Given the description of an element on the screen output the (x, y) to click on. 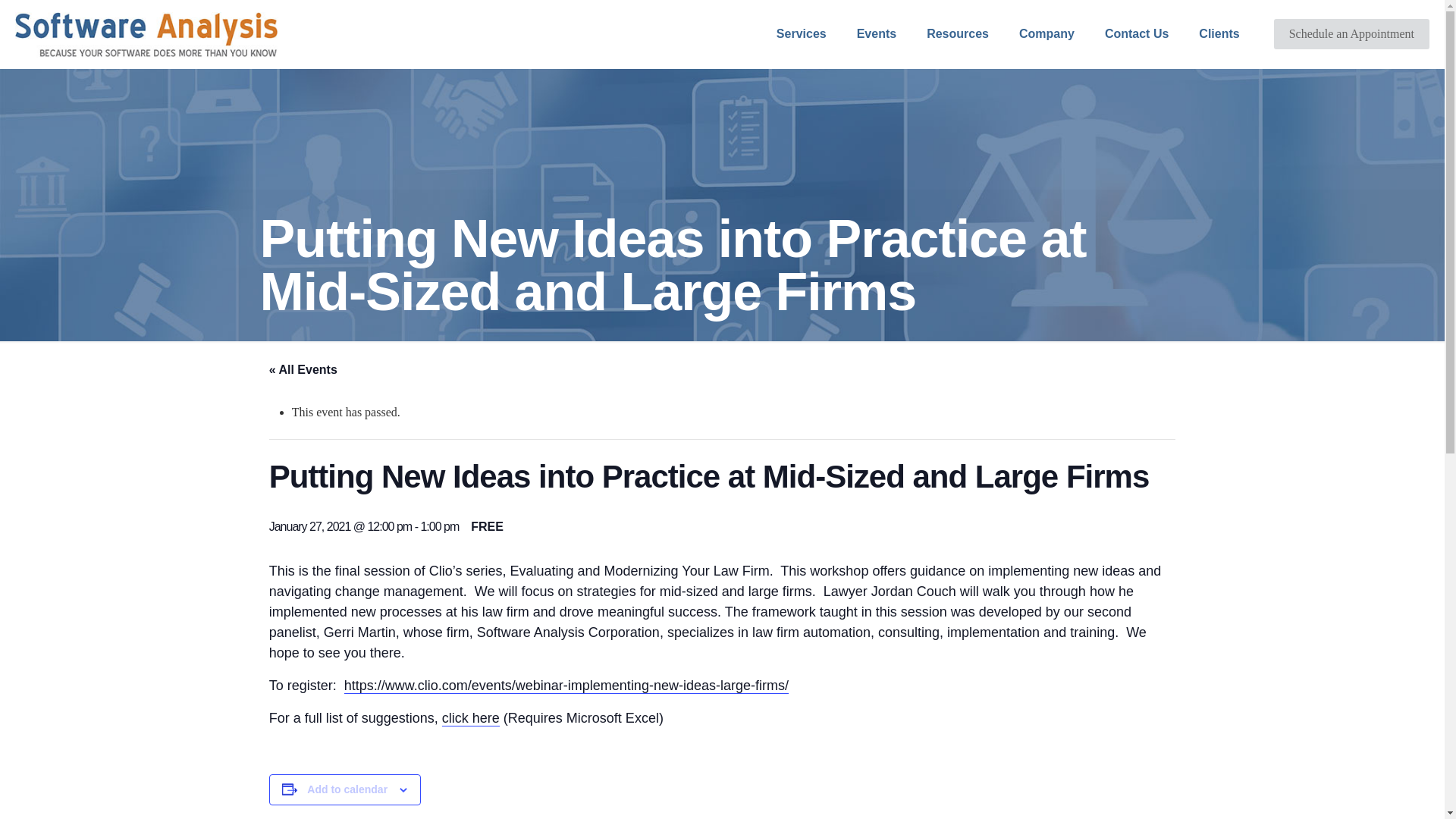
Company (1046, 33)
Schedule an Appointment (1351, 33)
Software Analysis Corporation (146, 33)
Resources (957, 33)
Contact Us (1136, 33)
click here (470, 718)
Clients (1218, 33)
Services (801, 33)
Add to calendar (347, 788)
Events (876, 33)
